Given the description of an element on the screen output the (x, y) to click on. 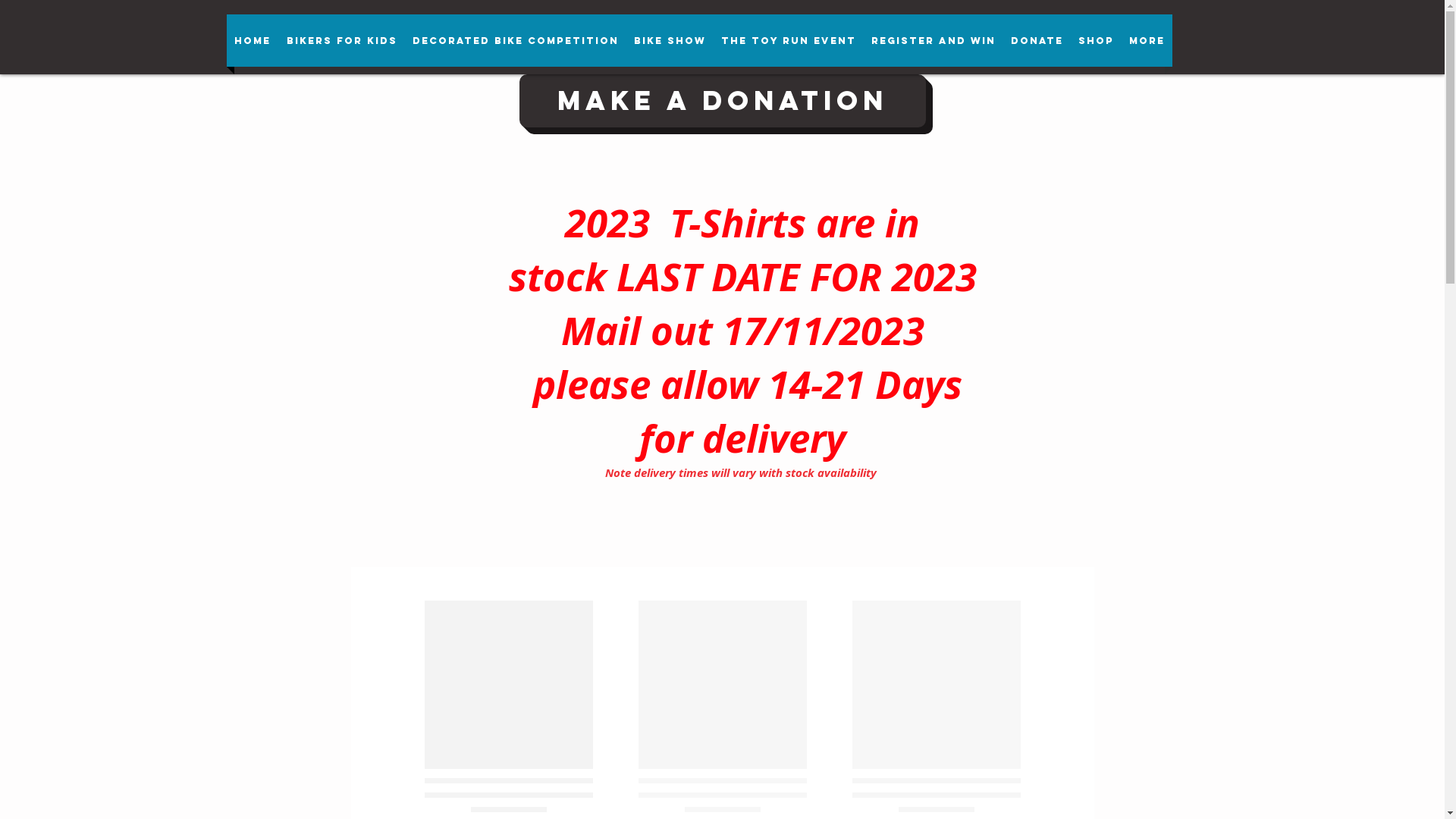
Shop Element type: text (1095, 40)
Home Element type: text (251, 40)
Decorated Bike Competition Element type: text (515, 40)
Donate Element type: text (1036, 40)
Bike Show Element type: text (669, 40)
Make a Donation Element type: text (721, 100)
Register and Win Element type: text (932, 40)
The Toy Run Event Element type: text (787, 40)
Bikers For Kids Element type: text (341, 40)
